Given the description of an element on the screen output the (x, y) to click on. 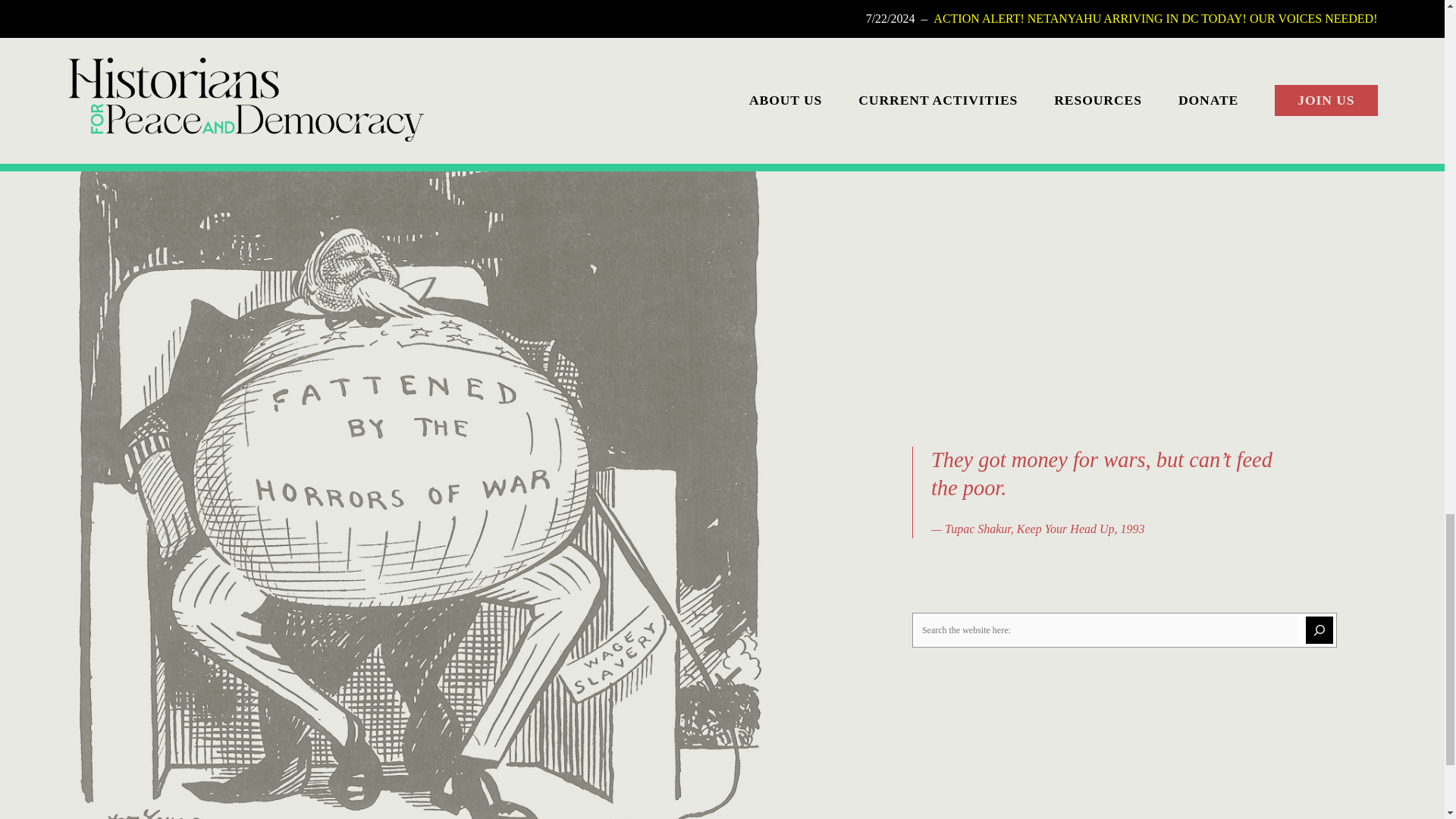
Instagram (103, 31)
Privacy Policy (102, 66)
YouTube (129, 31)
CONTACT US (831, 24)
PointPolish (1349, 121)
Facebook (75, 31)
Mail (157, 31)
